Given the description of an element on the screen output the (x, y) to click on. 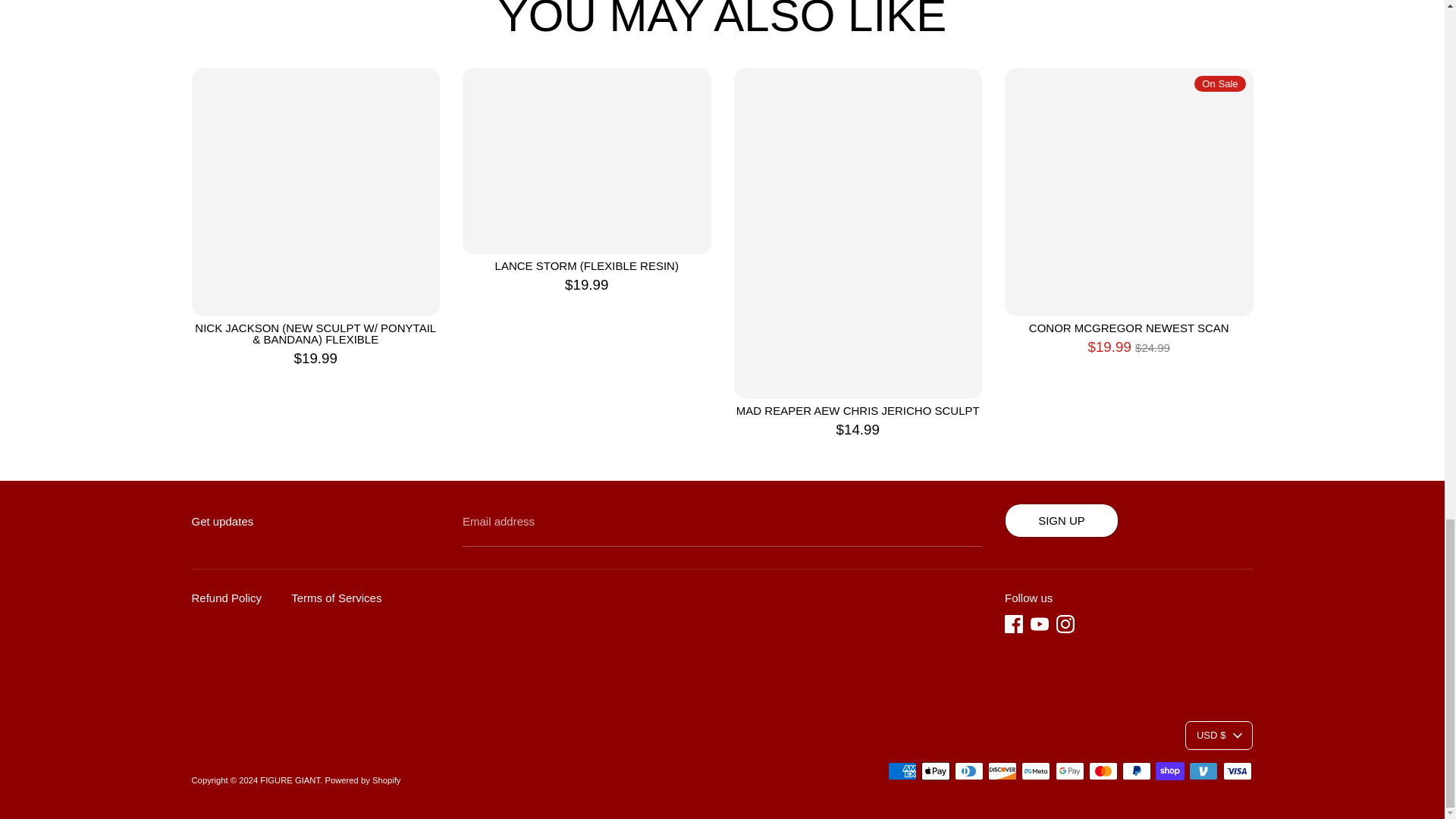
Apple Pay (935, 771)
Discover (1002, 771)
Google Pay (1069, 771)
Meta Pay (1035, 771)
Mastercard (1103, 771)
Diners Club (969, 771)
American Express (902, 771)
